Given the description of an element on the screen output the (x, y) to click on. 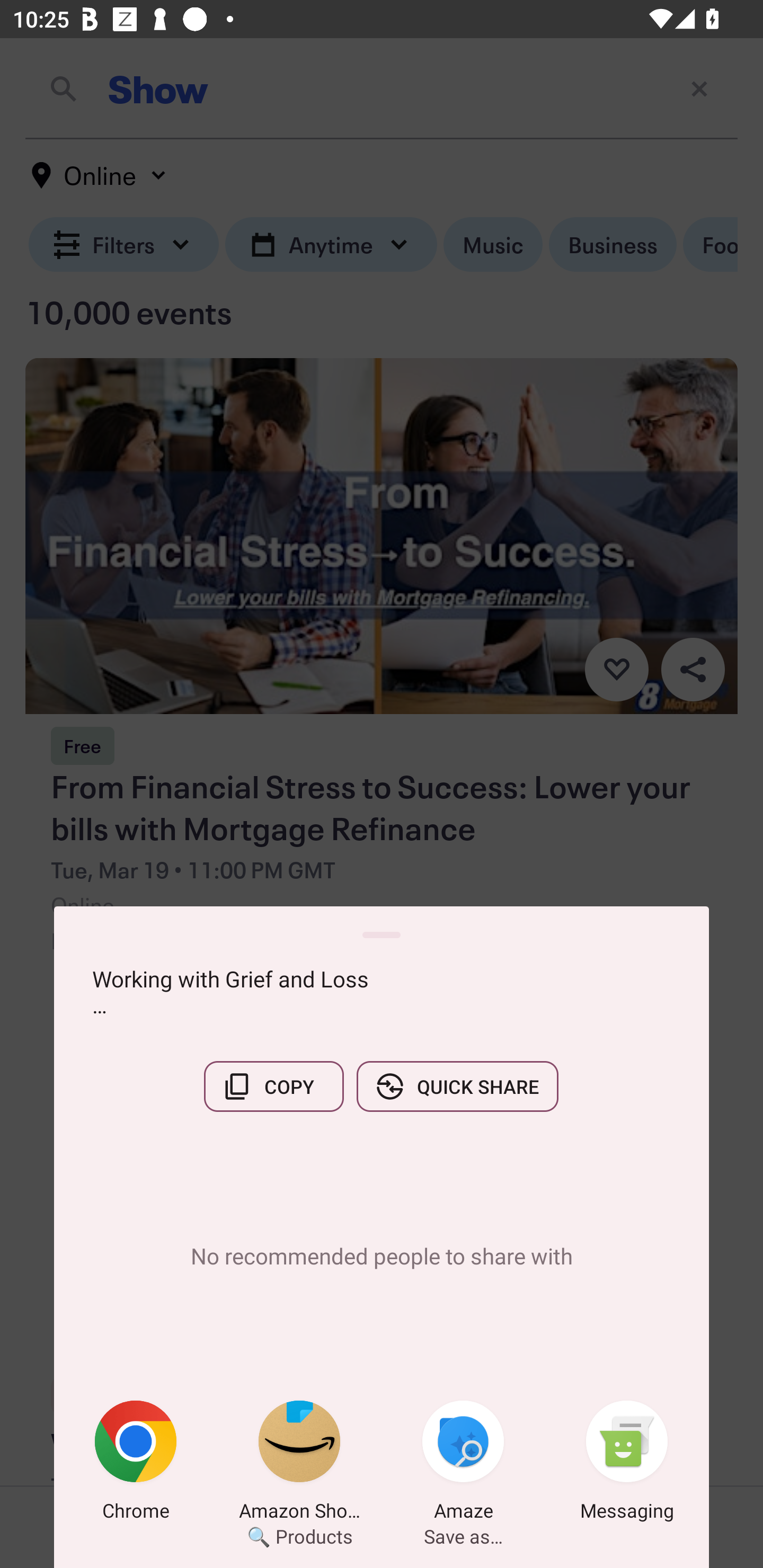
COPY (273, 1086)
QUICK SHARE (457, 1086)
Chrome (135, 1463)
Amazon Shopping 🔍 Products (299, 1463)
Amaze Save as… (463, 1463)
Messaging (626, 1463)
